Given the description of an element on the screen output the (x, y) to click on. 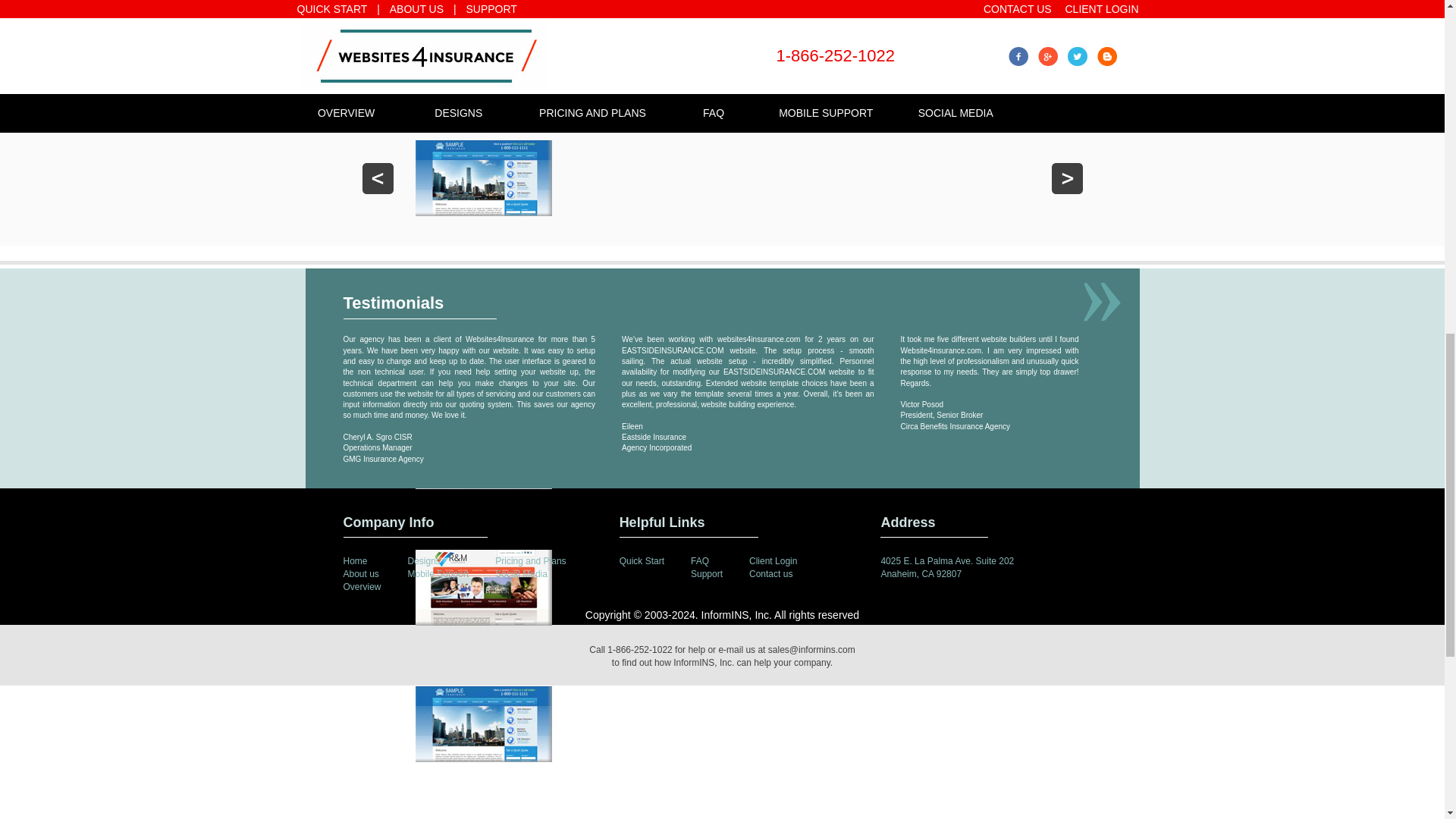
Home (354, 561)
Designs (424, 561)
About us (360, 573)
Mobile Support (437, 573)
Check Out Live Demos (722, 94)
Overview (361, 586)
